Given the description of an element on the screen output the (x, y) to click on. 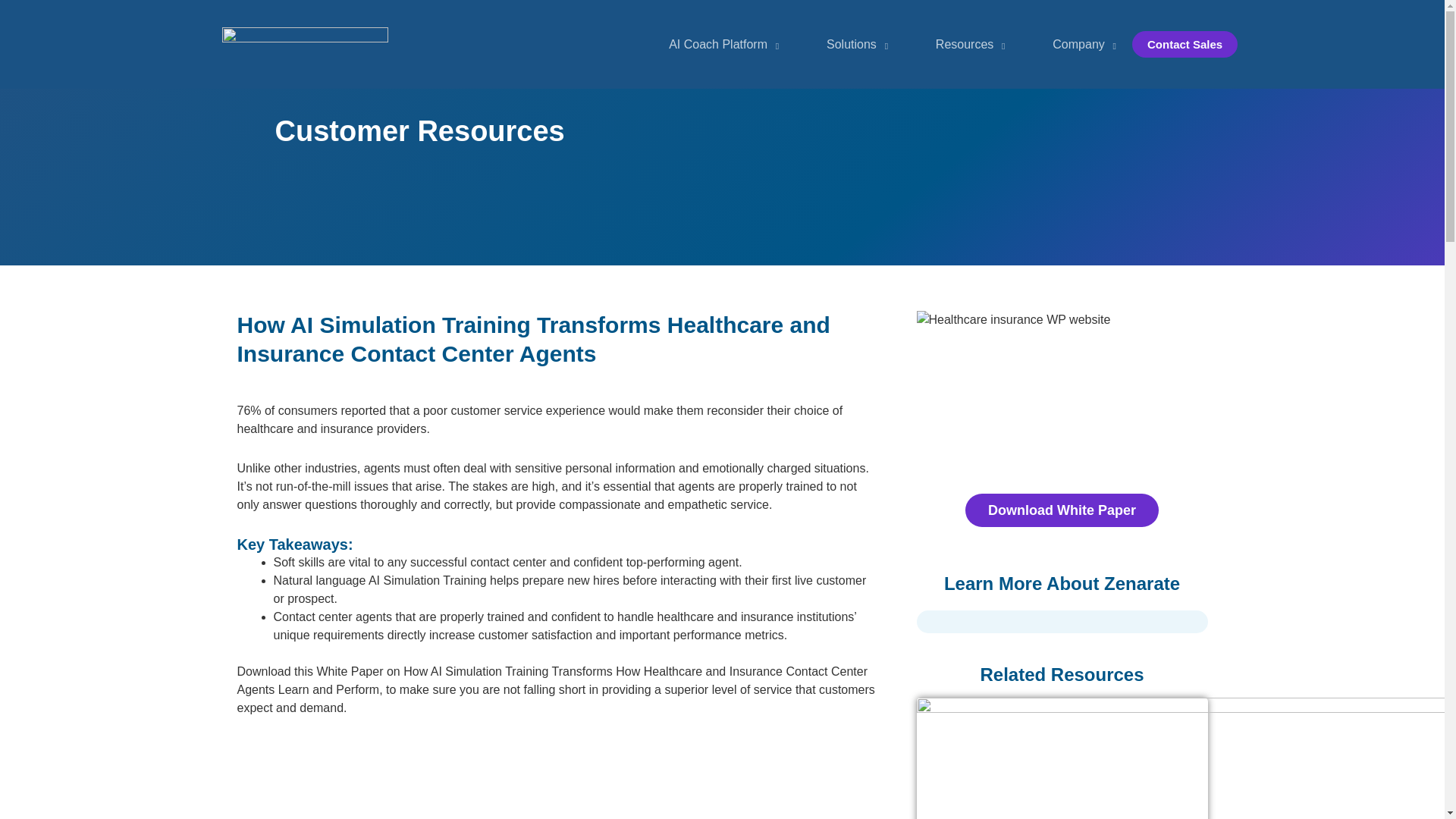
Resources (963, 44)
AI Coach Platform (717, 44)
Solutions (851, 44)
Company (1077, 44)
